Given the description of an element on the screen output the (x, y) to click on. 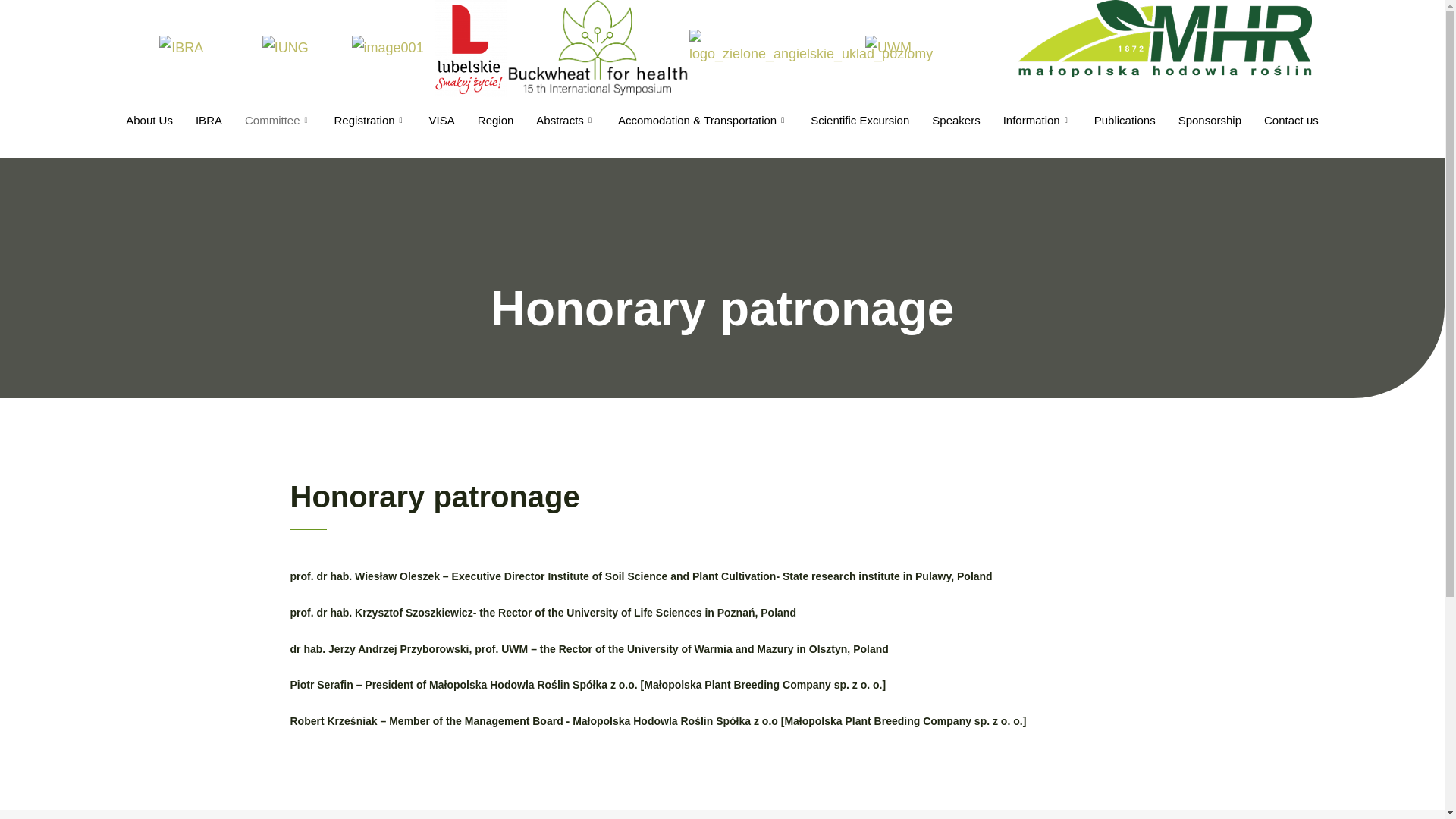
image001 Element type: hover (387, 47)
About Us Element type: text (149, 120)
UWM Element type: hover (888, 47)
logo-buckwheat Element type: hover (597, 47)
Contact us Element type: text (1291, 120)
IUNG Element type: hover (285, 47)
Registration Element type: text (370, 120)
Speakers Element type: text (955, 120)
LOGO_pion Element type: hover (471, 48)
Sponsorship Element type: text (1209, 120)
Scientific Excursion Element type: text (859, 120)
IBRA Element type: hover (181, 47)
VISA Element type: text (441, 120)
Information Element type: text (1036, 120)
Publications Element type: text (1124, 120)
Accomodation & Transportation Element type: text (702, 120)
Region Element type: text (495, 120)
Abstracts Element type: text (565, 120)
logo_zielone_angielskie_uklad_poziomy Element type: hover (810, 47)
IBRA Element type: text (208, 120)
Committee Element type: text (278, 120)
